Given the description of an element on the screen output the (x, y) to click on. 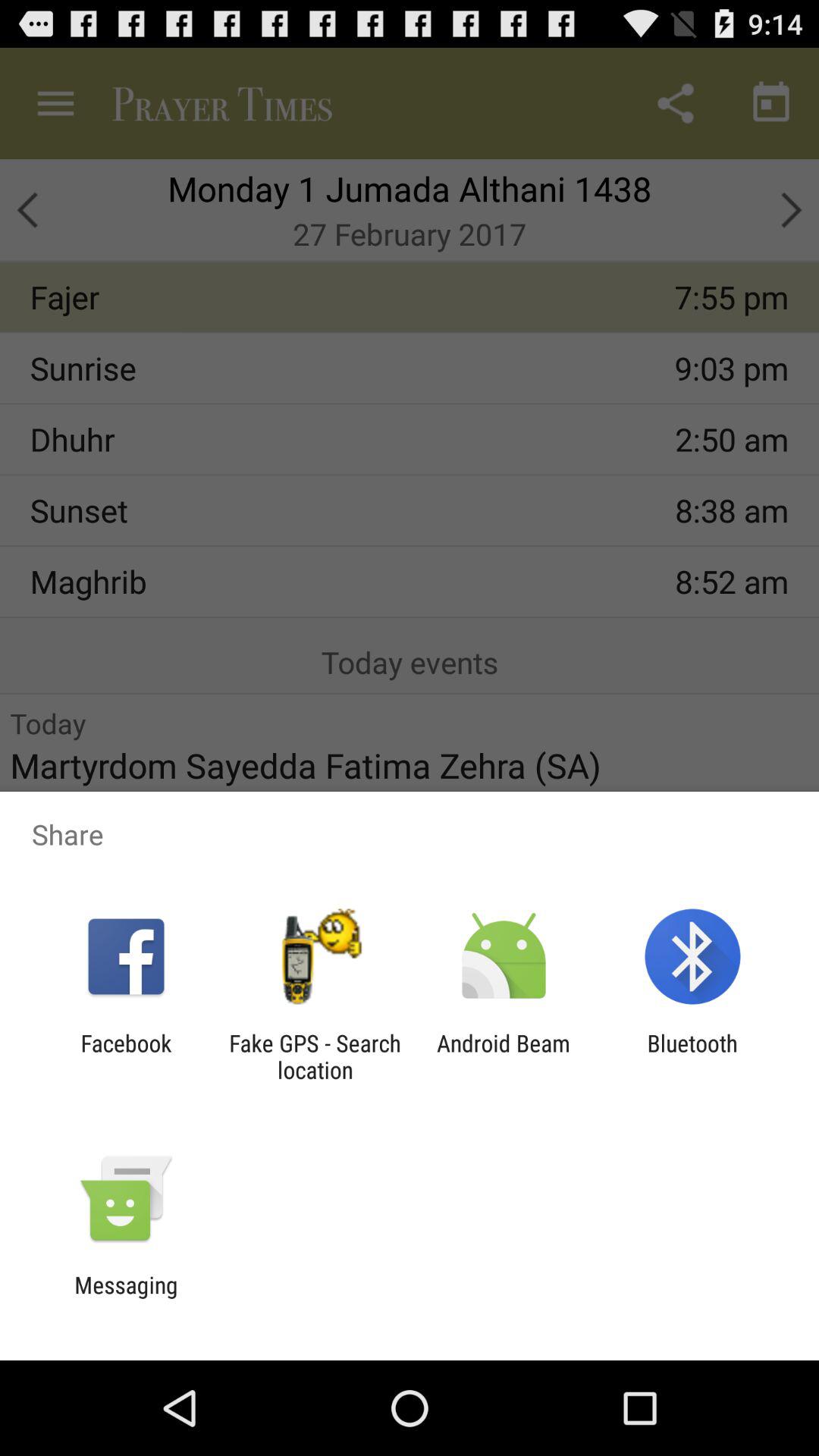
jump to the android beam icon (503, 1056)
